Given the description of an element on the screen output the (x, y) to click on. 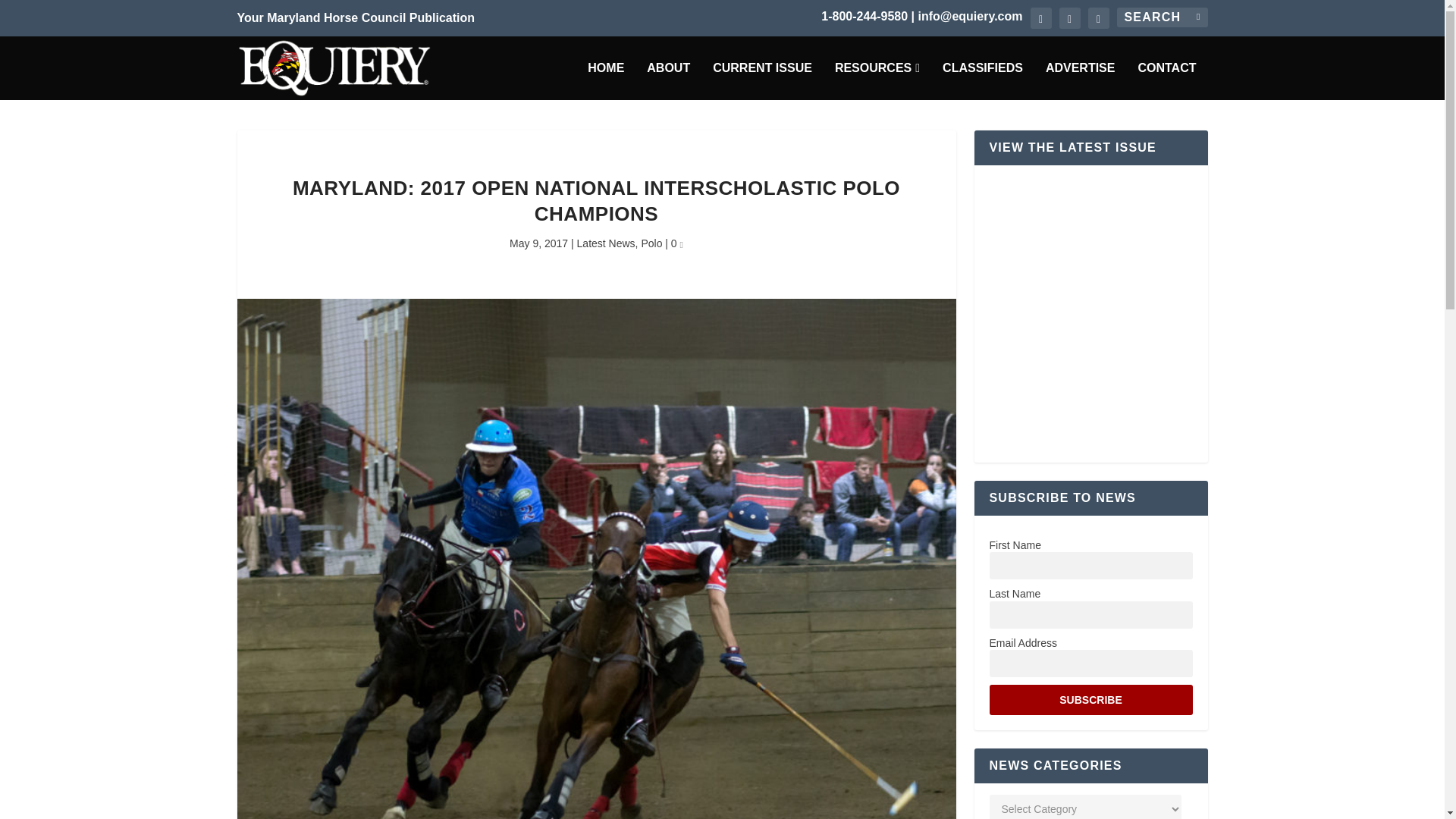
HOME (606, 80)
Search for: (1161, 17)
RESOURCES (877, 80)
0 (676, 243)
Latest News (605, 243)
CURRENT ISSUE (762, 80)
ADVERTISE (1080, 80)
CONTACT (1166, 80)
Polo (651, 243)
ABOUT (668, 80)
comment count (680, 244)
CLASSIFIEDS (982, 80)
Subscribe (1090, 699)
